Given the description of an element on the screen output the (x, y) to click on. 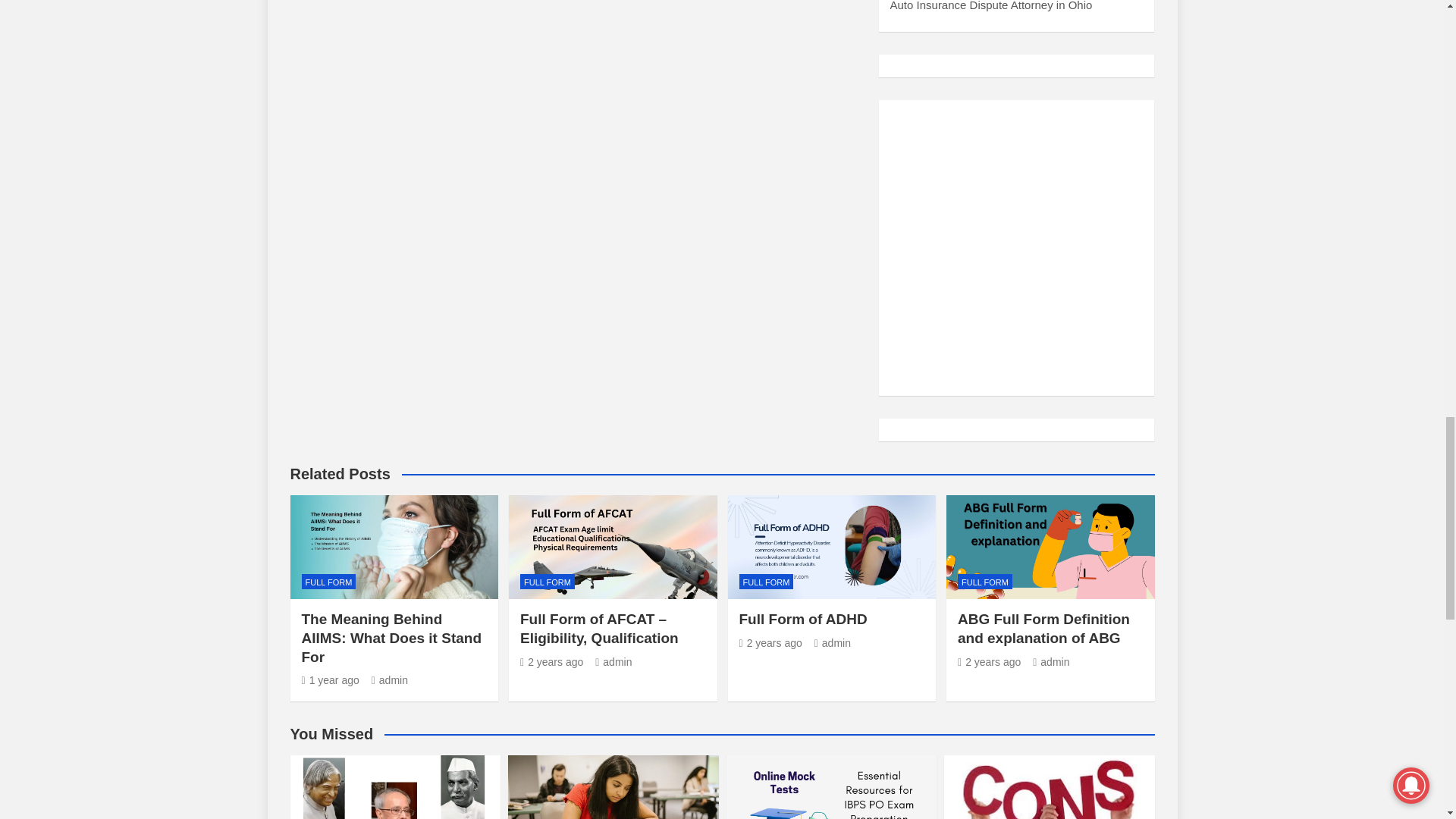
Full Form of ADHD (770, 643)
ABG Full Form Definition and explanation of ABG (989, 662)
The Meaning Behind AIIMS: What Does it Stand For (330, 680)
